Given the description of an element on the screen output the (x, y) to click on. 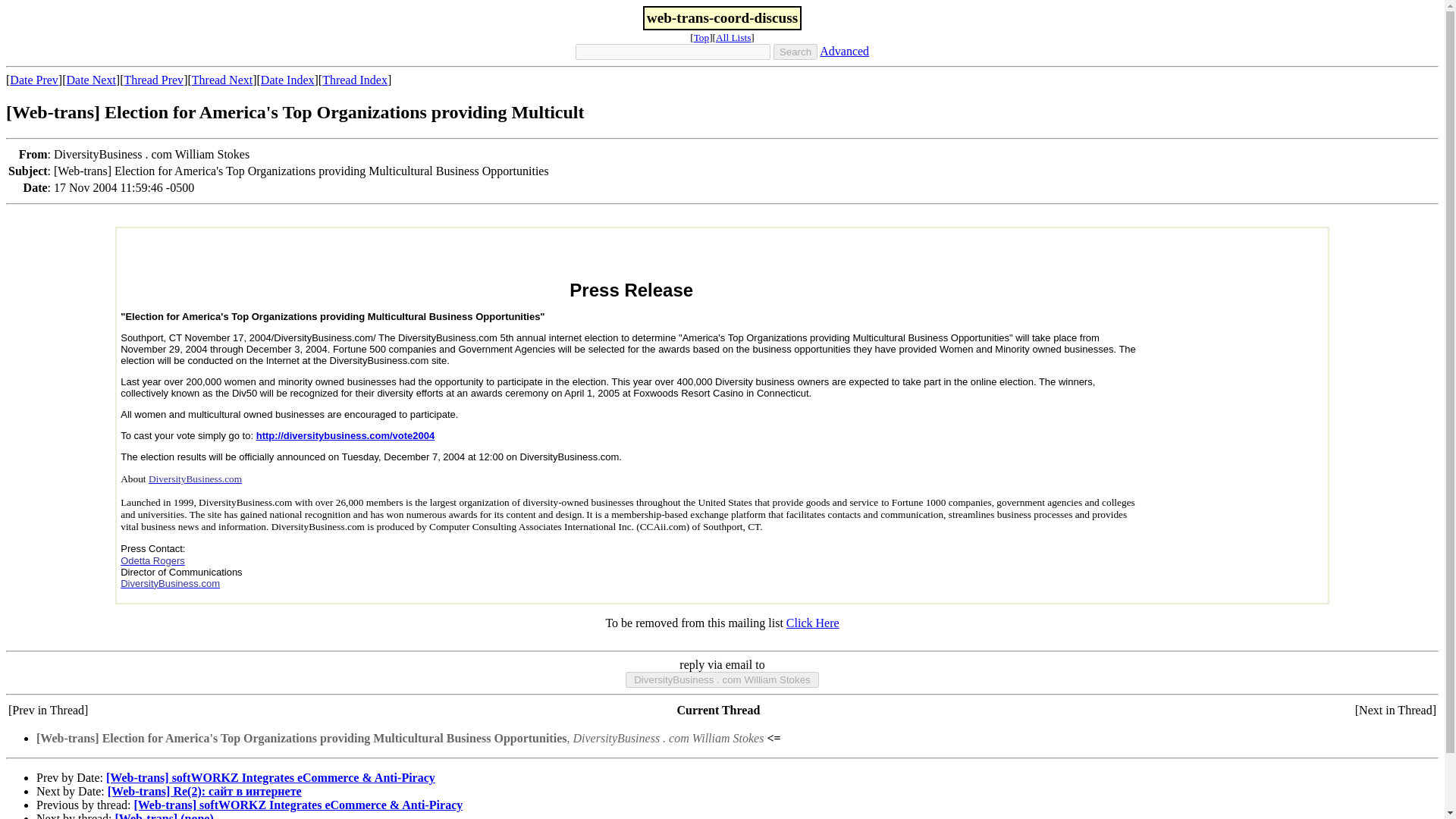
Date Index (287, 79)
 DiversityBusiness . com William Stokes  (722, 679)
DiversityBusiness.com (194, 478)
Search (794, 51)
Click Here (813, 622)
DiversityBusiness.com (169, 583)
Advanced (844, 51)
Date Next (91, 79)
All Lists (733, 37)
Top (702, 37)
Thread Index (354, 79)
 DiversityBusiness . com William Stokes  (722, 679)
Search (794, 51)
Thread Prev (153, 79)
Thread Next (221, 79)
